Given the description of an element on the screen output the (x, y) to click on. 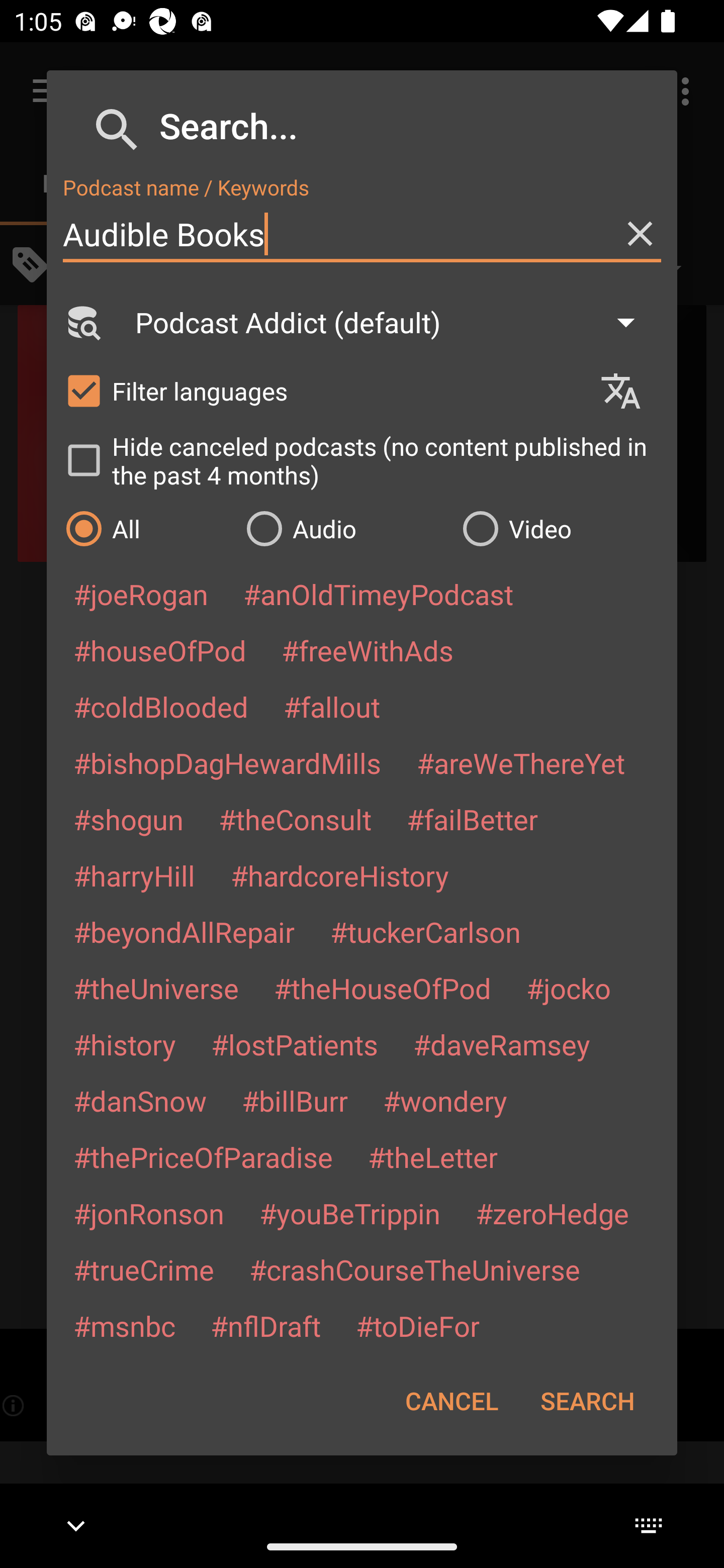
Audible Books (361, 234)
Search Engine (82, 322)
Podcast Addict (default) (394, 322)
Languages selection (629, 390)
Filter languages (322, 390)
All (145, 528)
Audio (344, 528)
Video (560, 528)
#joeRogan (140, 594)
#anOldTimeyPodcast (378, 594)
#houseOfPod (159, 650)
#freeWithAds (367, 650)
#coldBlooded (160, 705)
#fallout (331, 705)
#bishopDagHewardMills (227, 762)
#areWeThereYet (521, 762)
#shogun (128, 818)
#theConsult (294, 818)
#failBetter (471, 818)
#harryHill (134, 875)
#hardcoreHistory (339, 875)
#beyondAllRepair (184, 931)
#tuckerCarlson (425, 931)
#theUniverse (155, 987)
#theHouseOfPod (381, 987)
#jocko (568, 987)
#history (124, 1044)
#lostPatients (294, 1044)
#daveRamsey (501, 1044)
#danSnow (139, 1100)
#billBurr (294, 1100)
#wondery (444, 1100)
#thePriceOfParadise (203, 1157)
#theLetter (432, 1157)
#jonRonson (148, 1213)
#youBeTrippin (349, 1213)
#zeroHedge (552, 1213)
#trueCrime (143, 1268)
#crashCourseTheUniverse (414, 1268)
#msnbc (124, 1325)
#nflDraft (265, 1325)
#toDieFor (417, 1325)
CANCEL (451, 1400)
SEARCH (587, 1400)
